Given the description of an element on the screen output the (x, y) to click on. 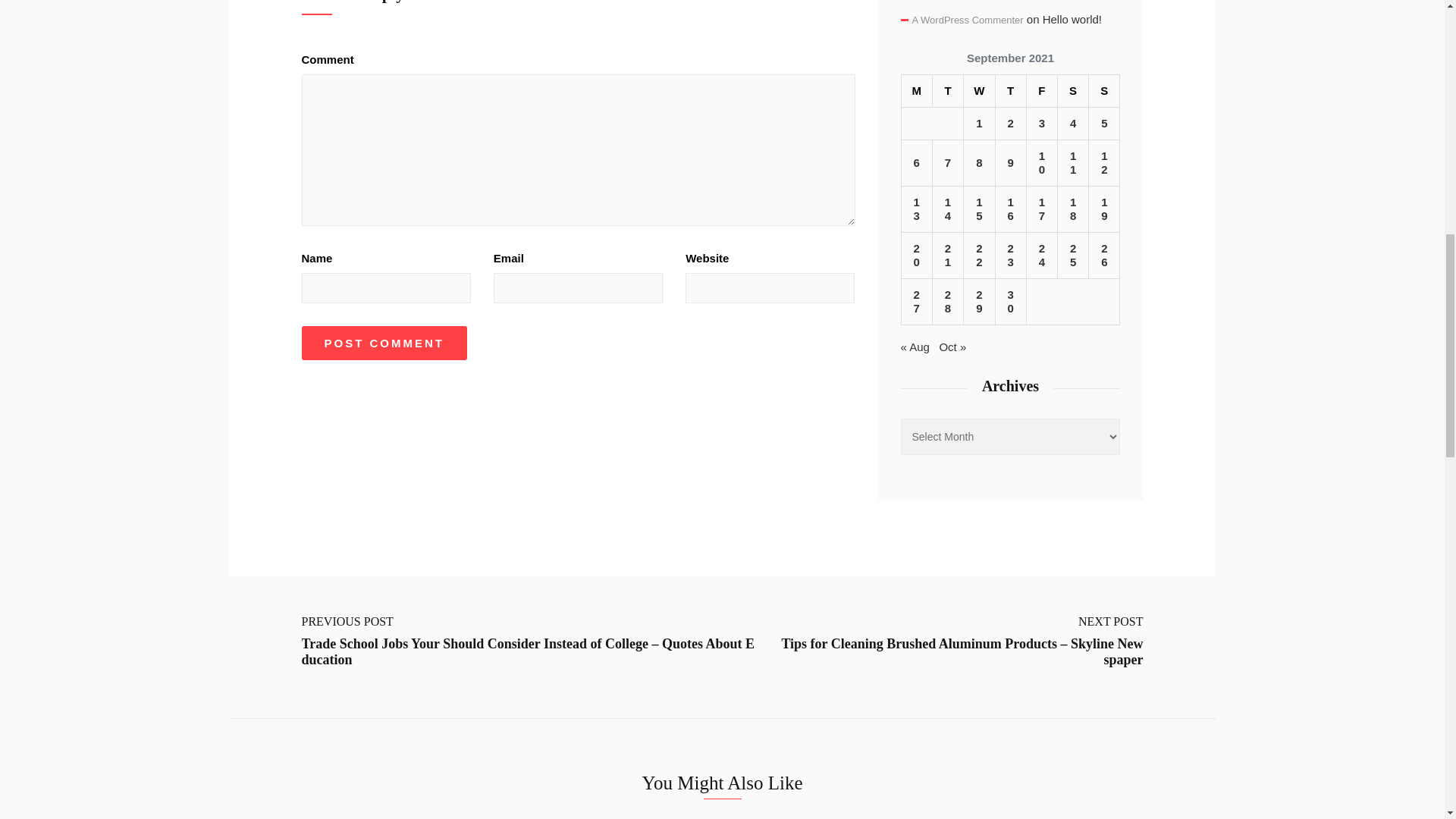
Wednesday (979, 90)
Tuesday (946, 90)
Post Comment (384, 342)
Sunday (1104, 90)
Monday (916, 90)
Friday (1041, 90)
Thursday (1010, 90)
Hello world! (1072, 19)
A WordPress Commenter (967, 19)
Saturday (1072, 90)
